Given the description of an element on the screen output the (x, y) to click on. 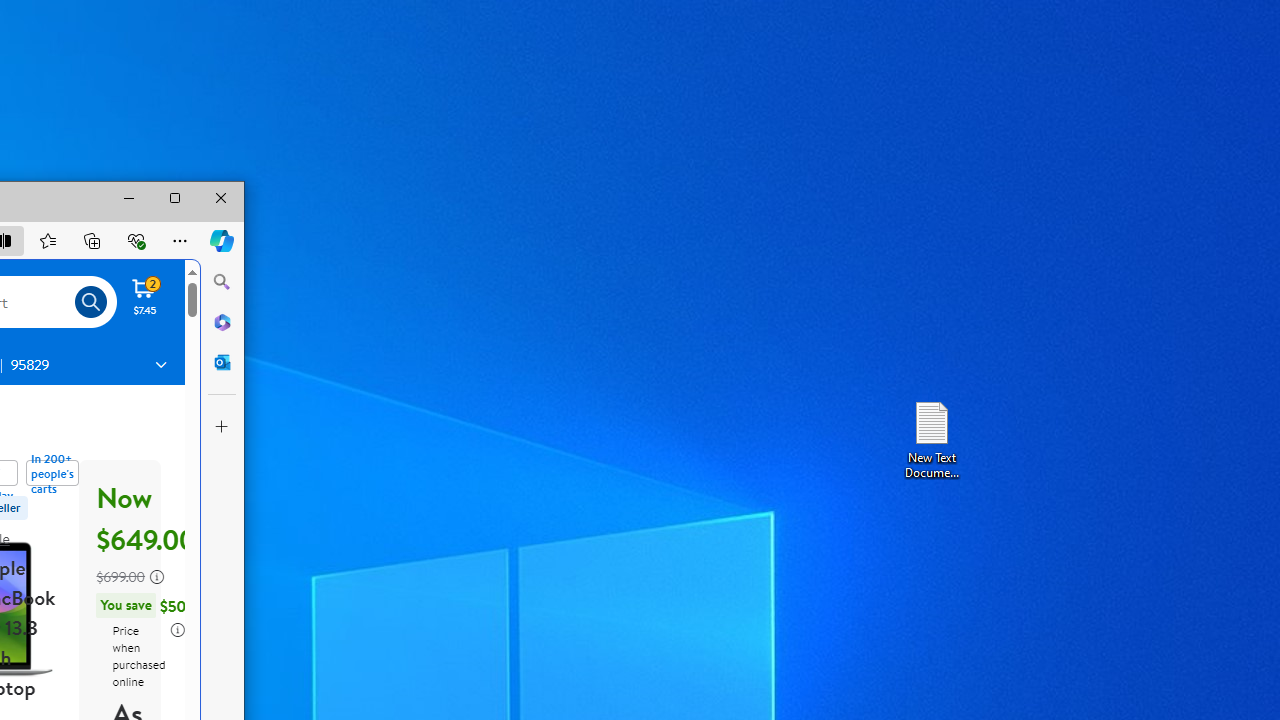
Search icon (91, 301)
Cart contains 2 items Total Amount $7.45 (145, 295)
